Given the description of an element on the screen output the (x, y) to click on. 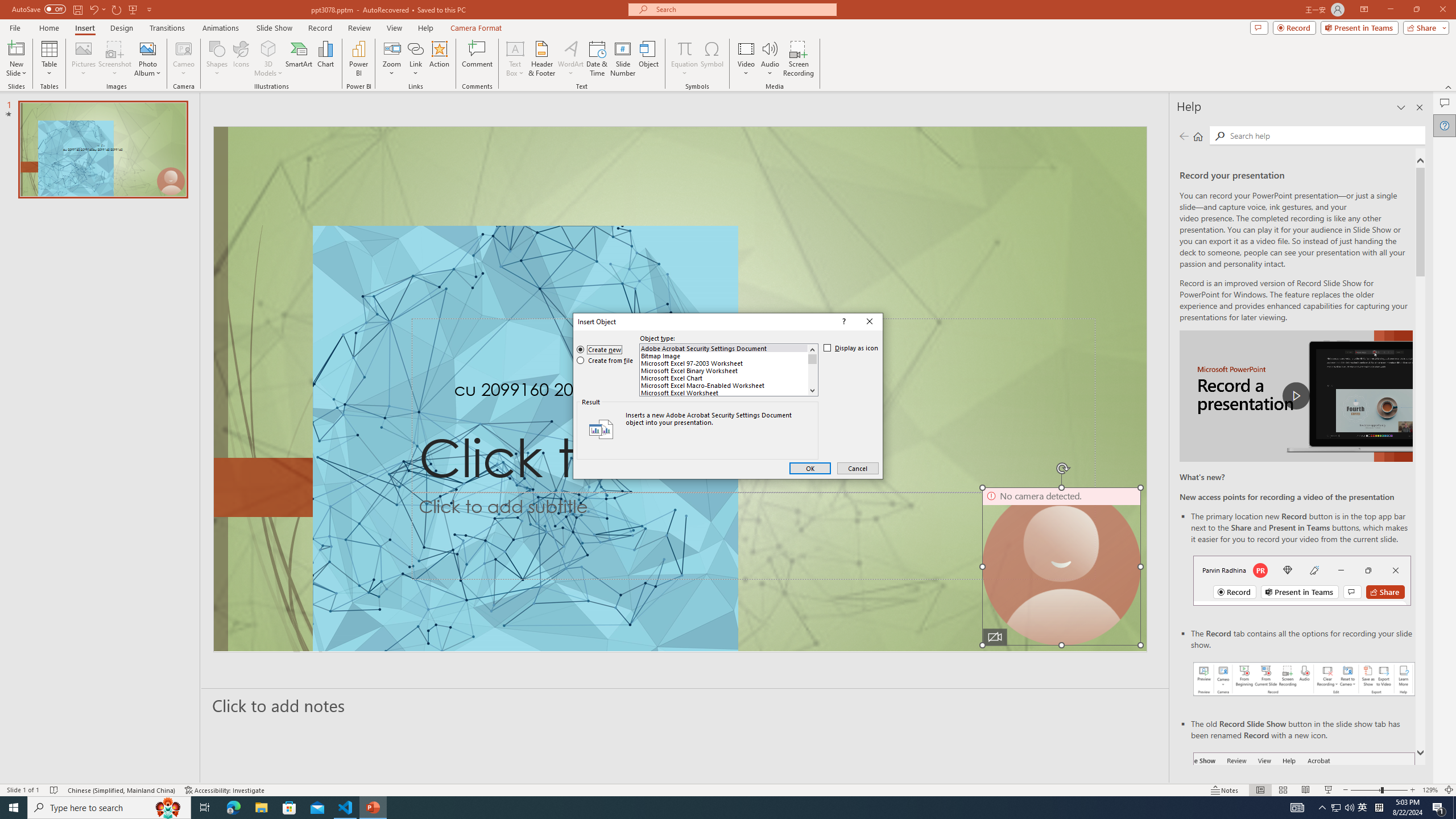
Display as icon (851, 347)
Microsoft Excel Worksheet (724, 392)
Screen Recording... (798, 58)
Camera Format (475, 28)
SmartArt... (298, 58)
